Given the description of an element on the screen output the (x, y) to click on. 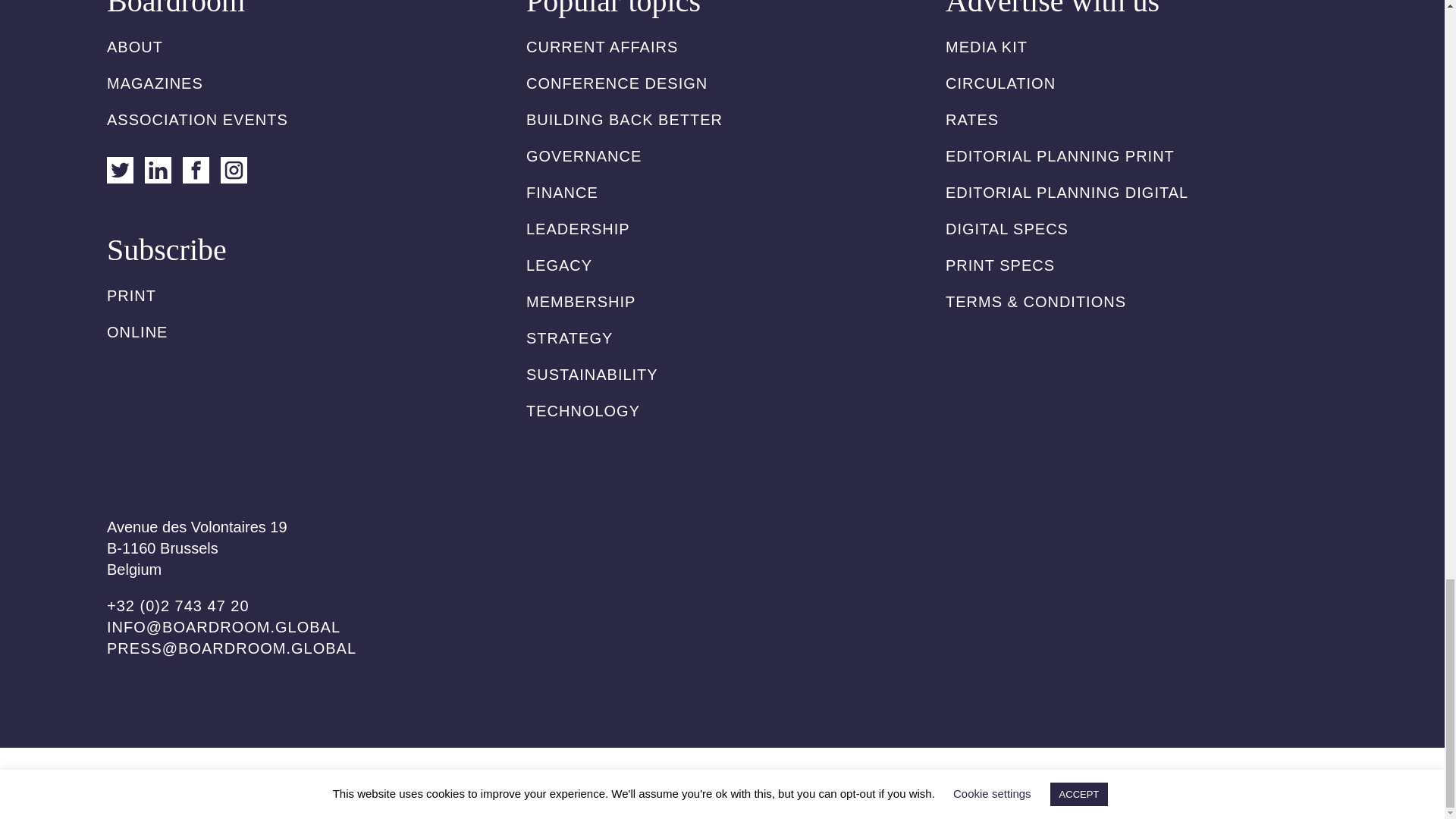
MAGAZINES (154, 83)
ABOUT (134, 46)
ASSOCIATION EVENTS (197, 119)
